Given the description of an element on the screen output the (x, y) to click on. 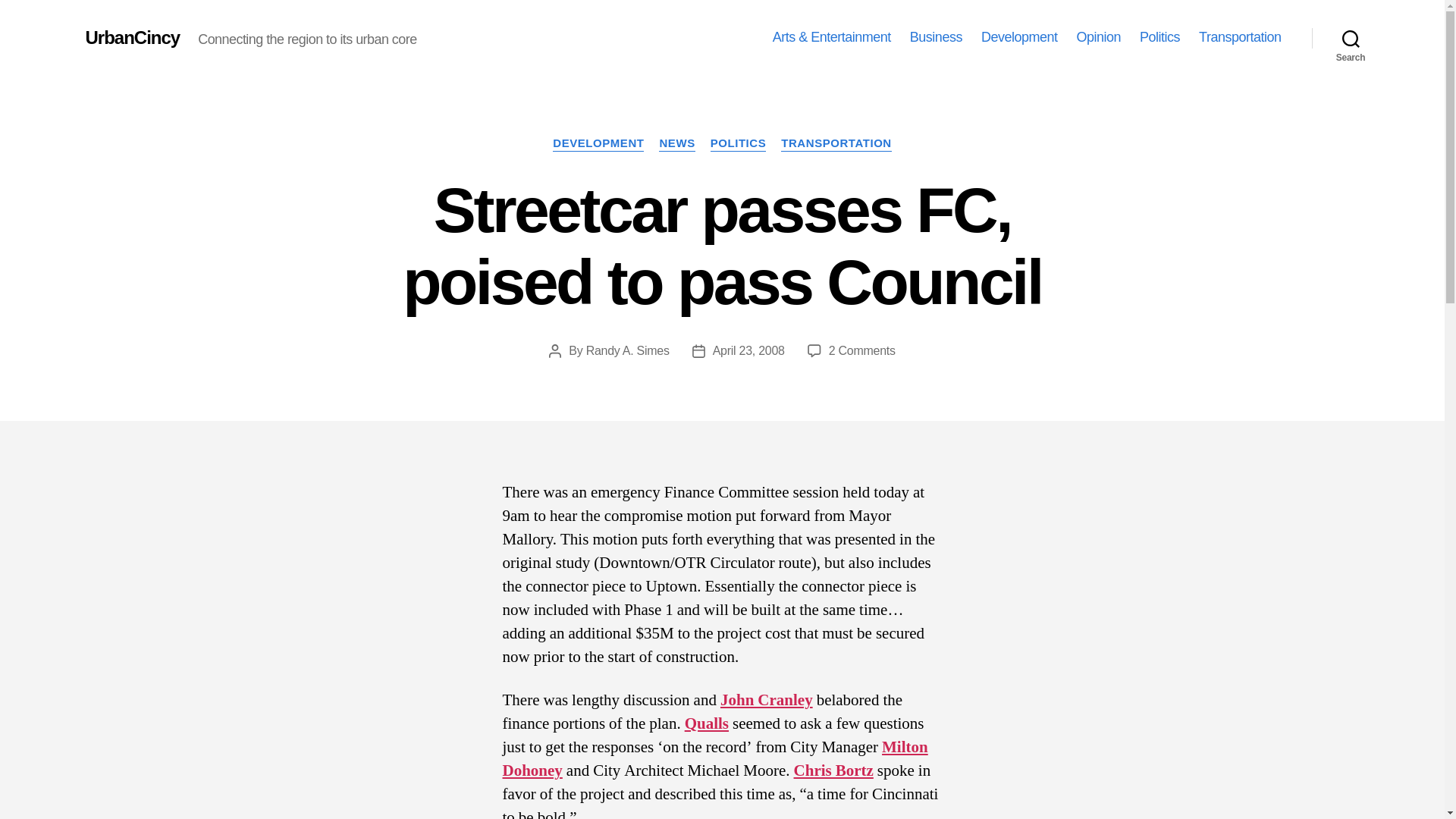
TRANSPORTATION (835, 143)
Politics (1159, 37)
Opinion (1098, 37)
Milton Dohoney (714, 759)
Search (1350, 37)
Business (936, 37)
DEVELOPMENT (598, 143)
Development (1019, 37)
UrbanCincy (131, 37)
Transportation (1239, 37)
